Given the description of an element on the screen output the (x, y) to click on. 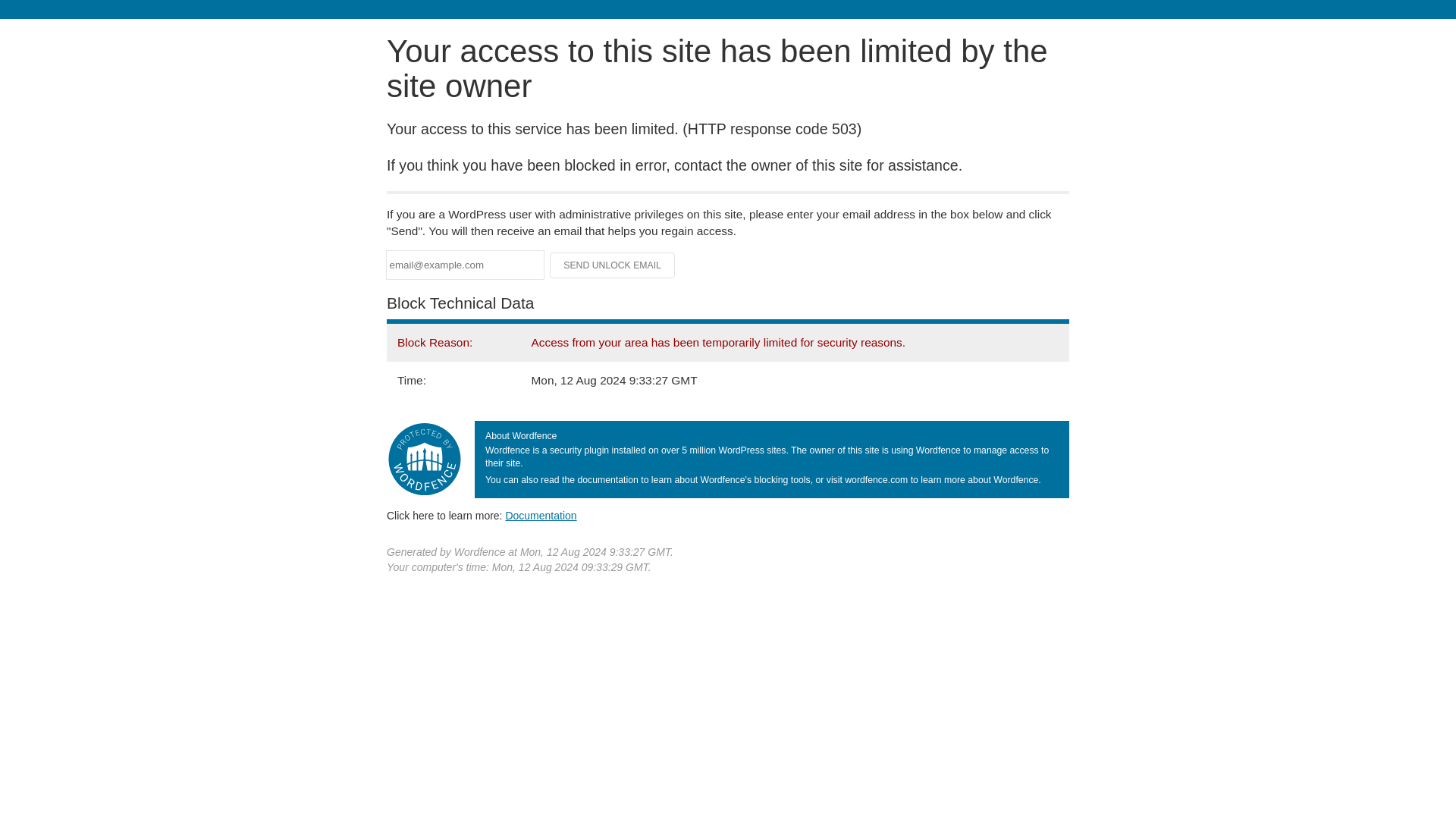
Send Unlock Email (612, 265)
Send Unlock Email (612, 265)
Documentation (540, 515)
